Given the description of an element on the screen output the (x, y) to click on. 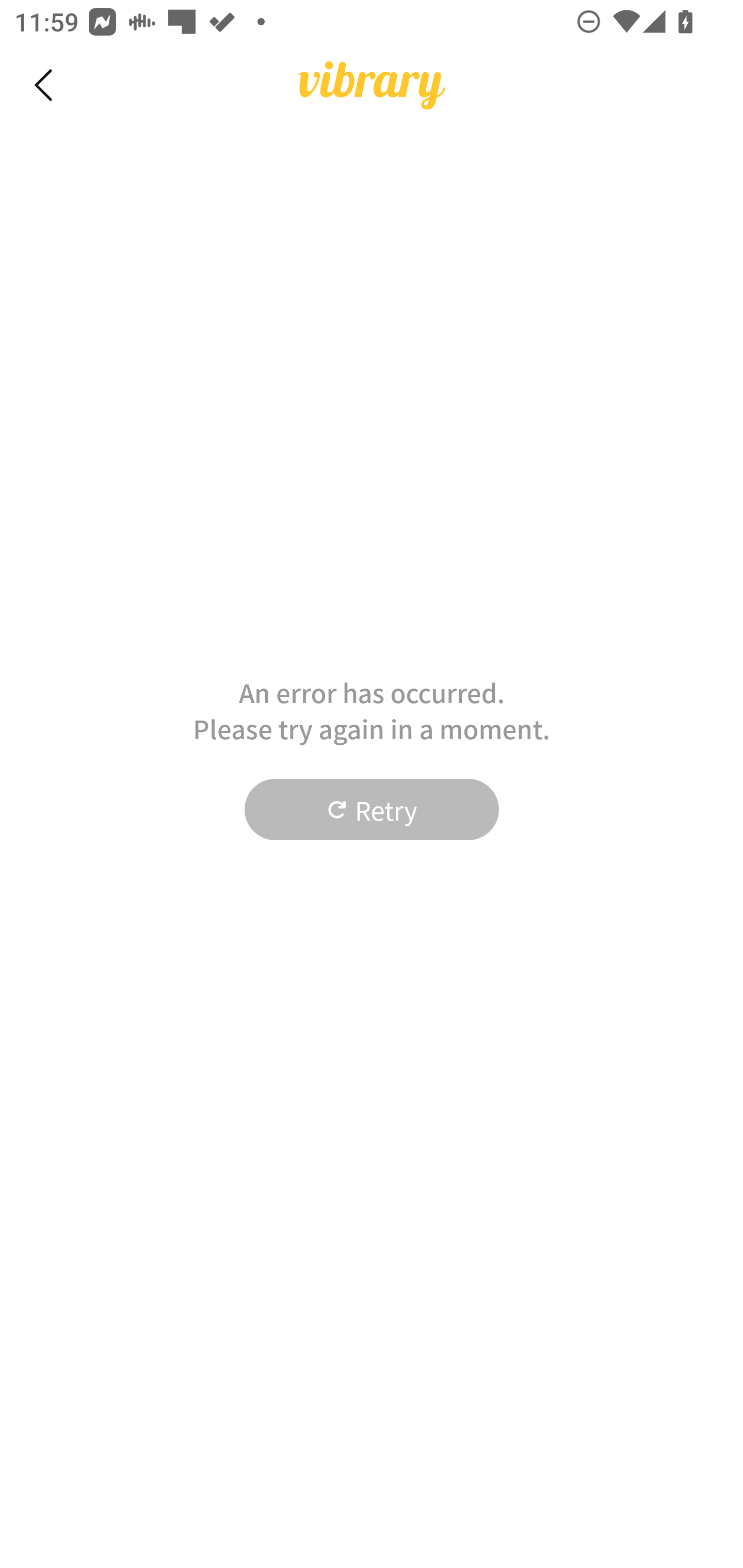
Retry (371, 809)
